Given the description of an element on the screen output the (x, y) to click on. 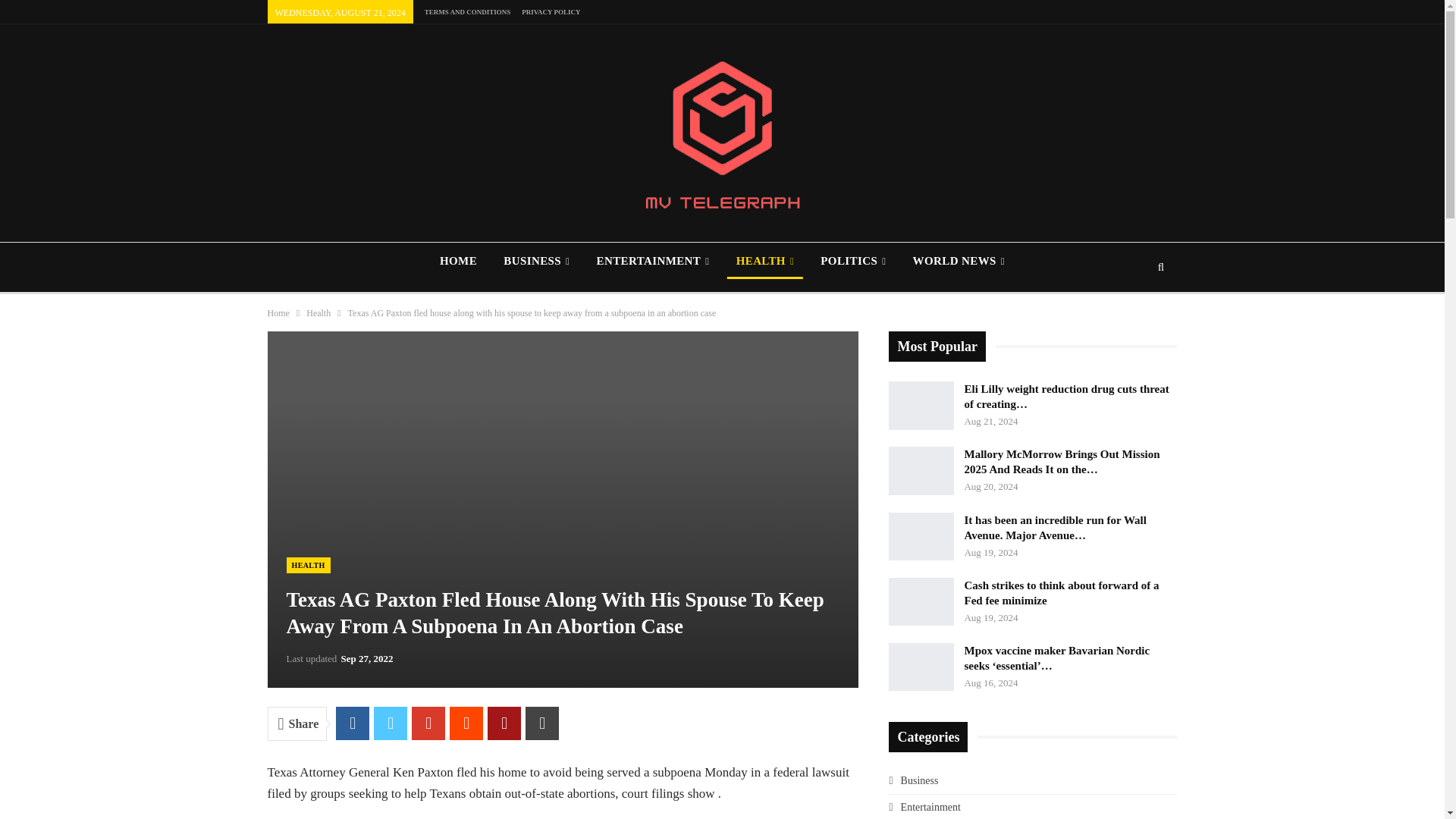
TERMS AND CONDITIONS (468, 11)
BUSINESS (536, 260)
PRIVACY POLICY (550, 11)
ENTERTAINMENT (651, 260)
HEALTH (764, 260)
HOME (458, 260)
